Given the description of an element on the screen output the (x, y) to click on. 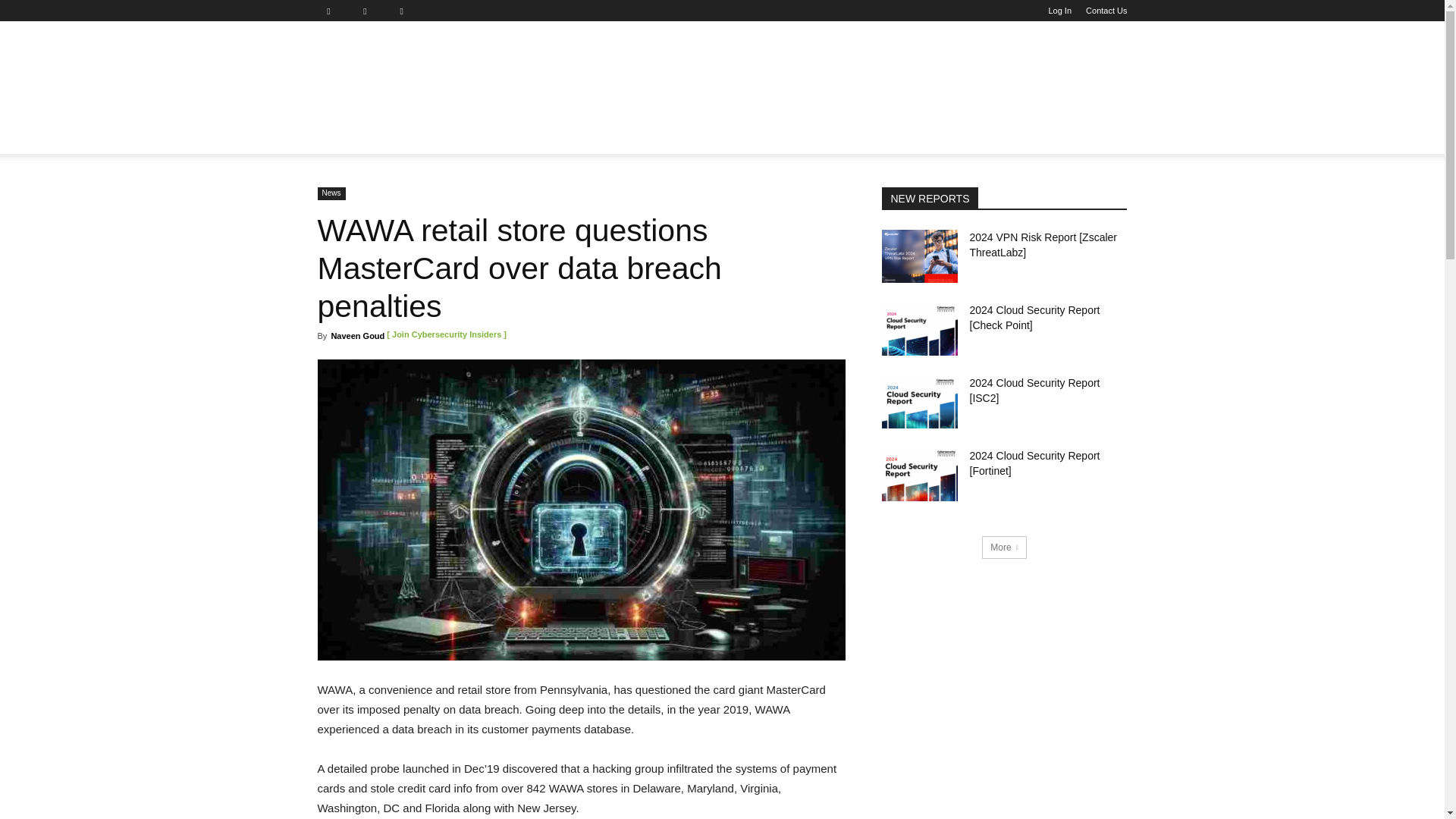
Facebook (333, 10)
Advertisement (829, 76)
NEWS (343, 135)
Twitter (407, 10)
News (343, 135)
Log In (1059, 10)
Contact Us (1106, 10)
Linkedin (370, 10)
